Given the description of an element on the screen output the (x, y) to click on. 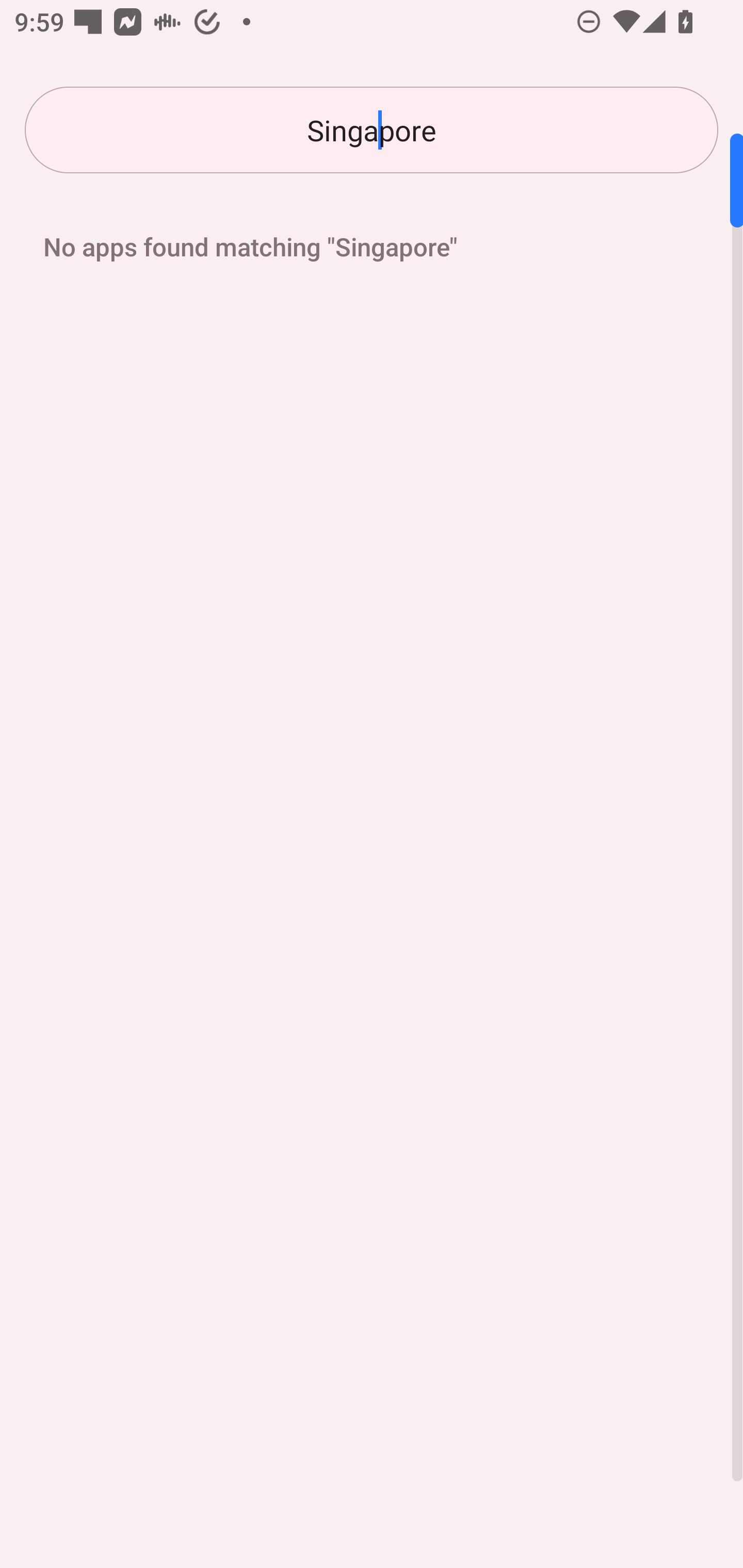
Singapore (371, 130)
